Given the description of an element on the screen output the (x, y) to click on. 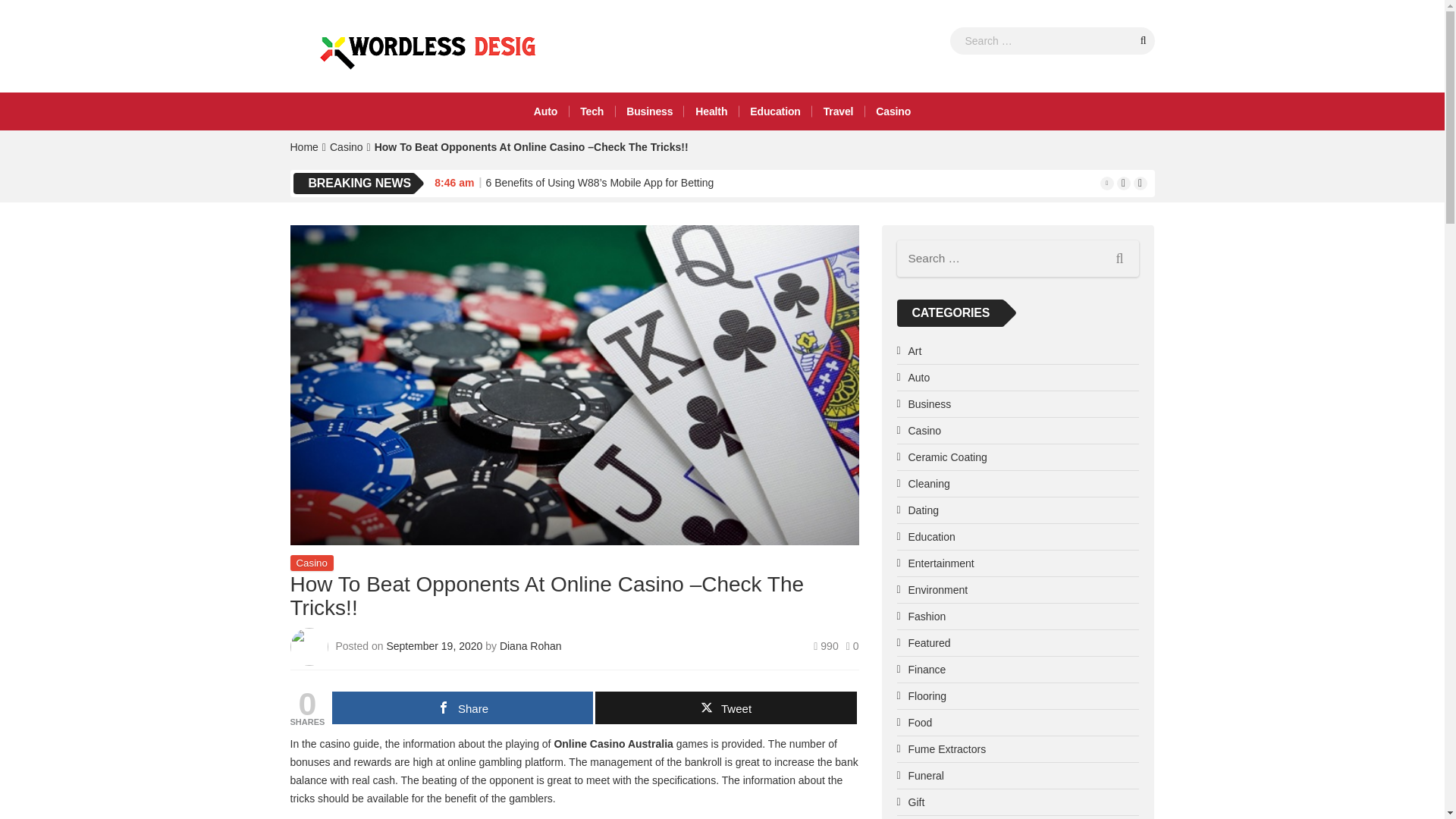
Tech (591, 111)
Share (461, 707)
Diana Rohan (530, 645)
Home (303, 146)
Travel (838, 111)
September 19, 2020 (434, 645)
Tweet (725, 707)
Search for: (1017, 258)
Health (711, 111)
Home (303, 146)
Casino (346, 146)
Online Casino Australia (612, 743)
Search (1143, 39)
Casino (892, 111)
Search for: (1051, 40)
